Given the description of an element on the screen output the (x, y) to click on. 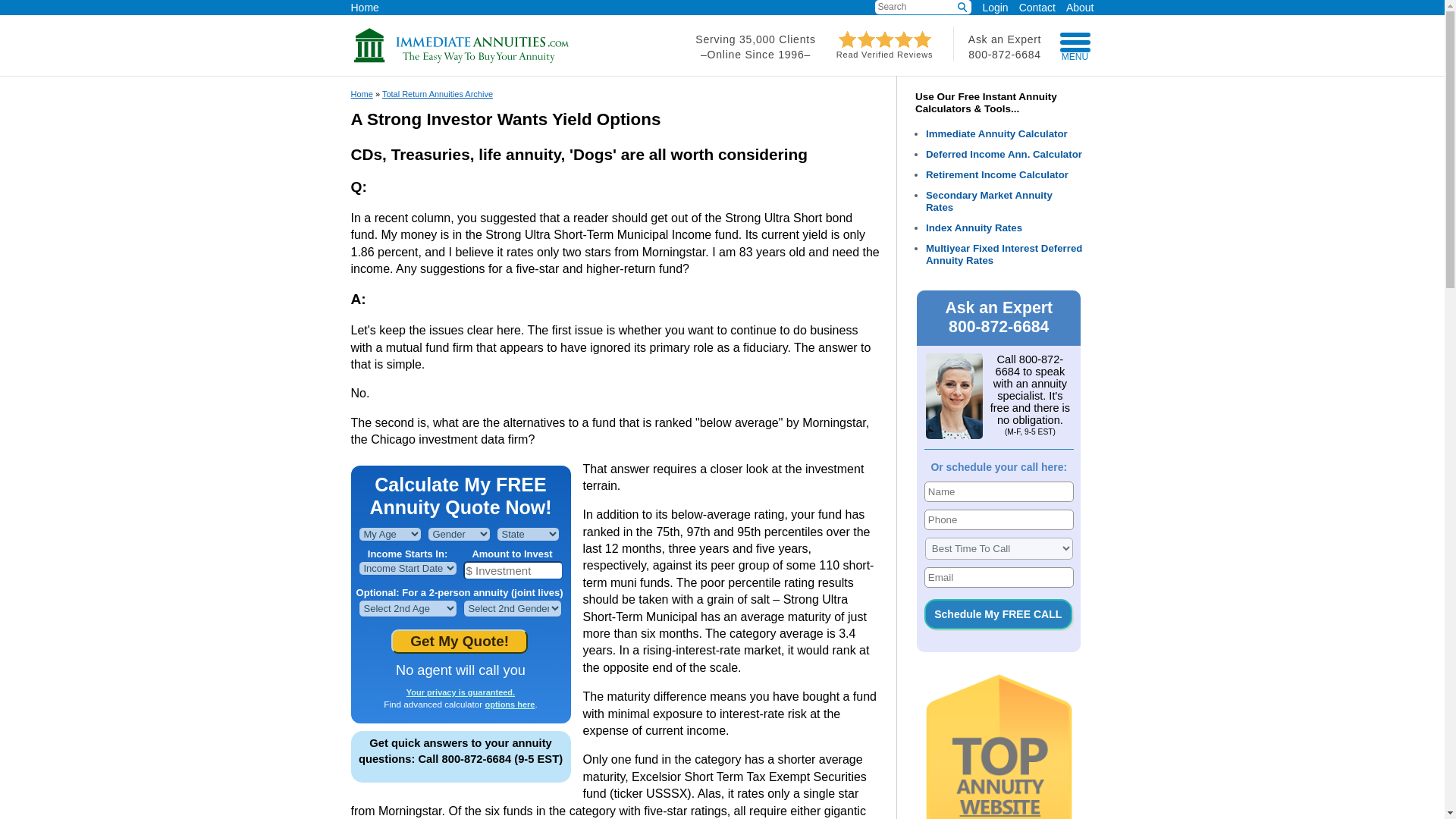
Contact (1032, 6)
Home (364, 6)
Login (994, 7)
Schedule My FREE CALL (997, 613)
800-872-6684 (1004, 54)
For All Your Annuity Needs (461, 60)
About (1074, 6)
Read Verified Reviews (885, 49)
Get My Quote! (459, 641)
Total Return Annuities Archive (437, 93)
